Given the description of an element on the screen output the (x, y) to click on. 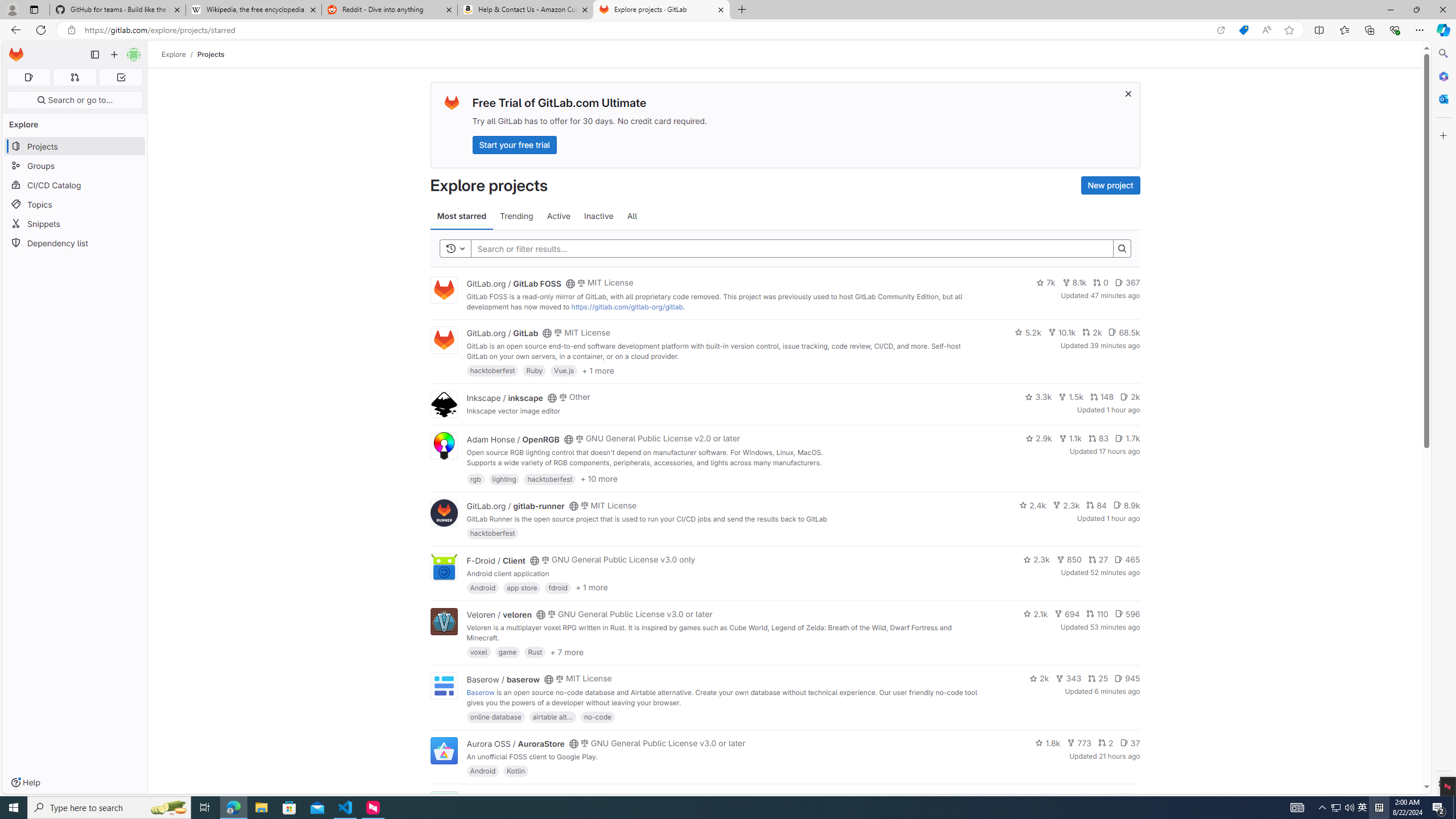
Projects (211, 53)
Class: s16 (568, 798)
1.8k (1048, 742)
Rust (535, 651)
Wikipedia, the free encyclopedia (253, 9)
rgb (475, 478)
596 (1127, 613)
airtable alt... (552, 715)
1.5k (1070, 396)
Explore (173, 53)
Snippets (74, 223)
143 (1085, 797)
